Given the description of an element on the screen output the (x, y) to click on. 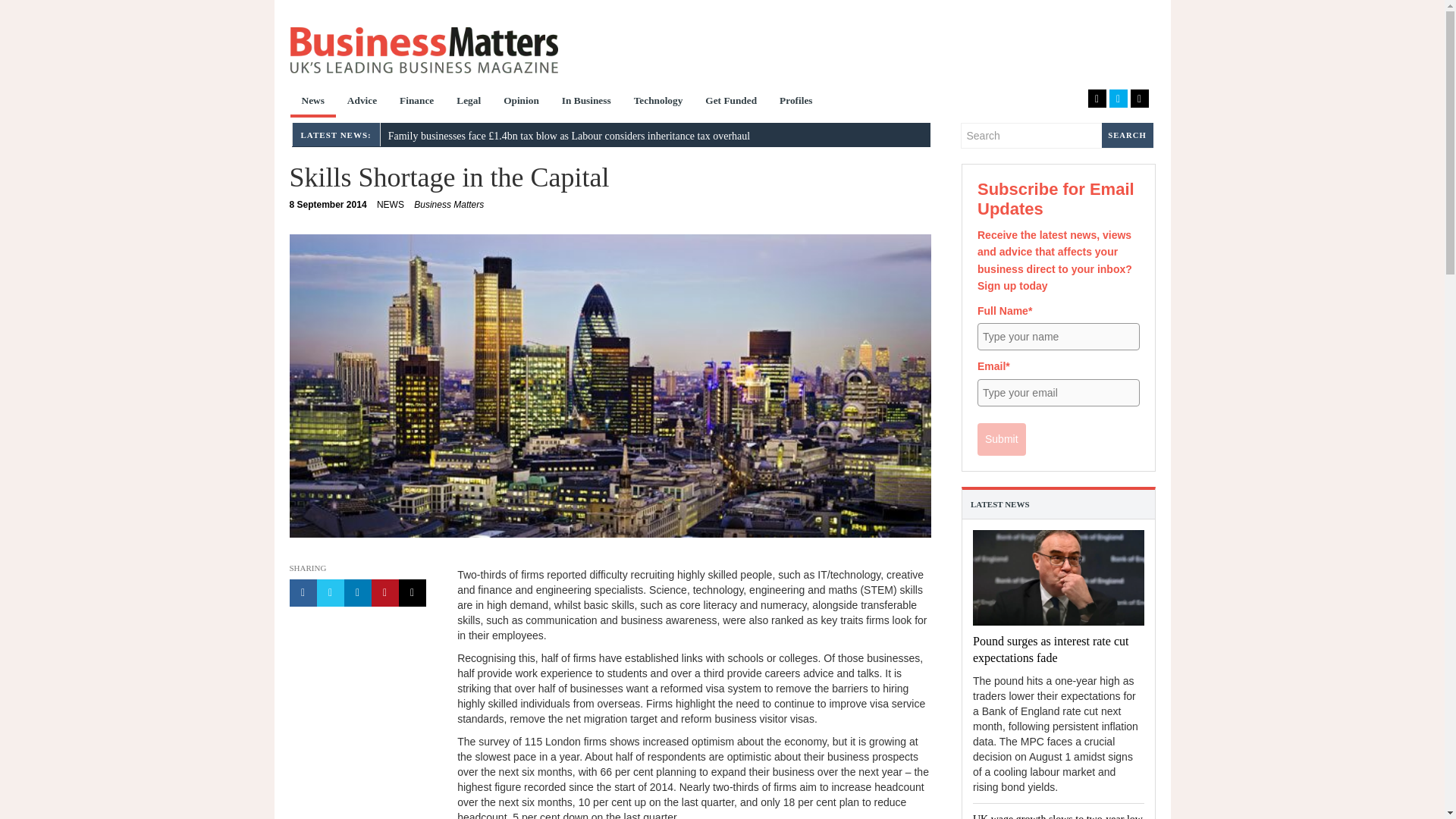
Opinion (521, 101)
Get Funded (731, 101)
NEWS (390, 204)
8 September 2014 (327, 204)
Business Matters (448, 204)
Profiles (796, 101)
Finance (416, 101)
Business Matters (423, 50)
In Business (586, 101)
News (311, 101)
Advice (362, 101)
Legal (468, 101)
Technology (658, 101)
